Given the description of an element on the screen output the (x, y) to click on. 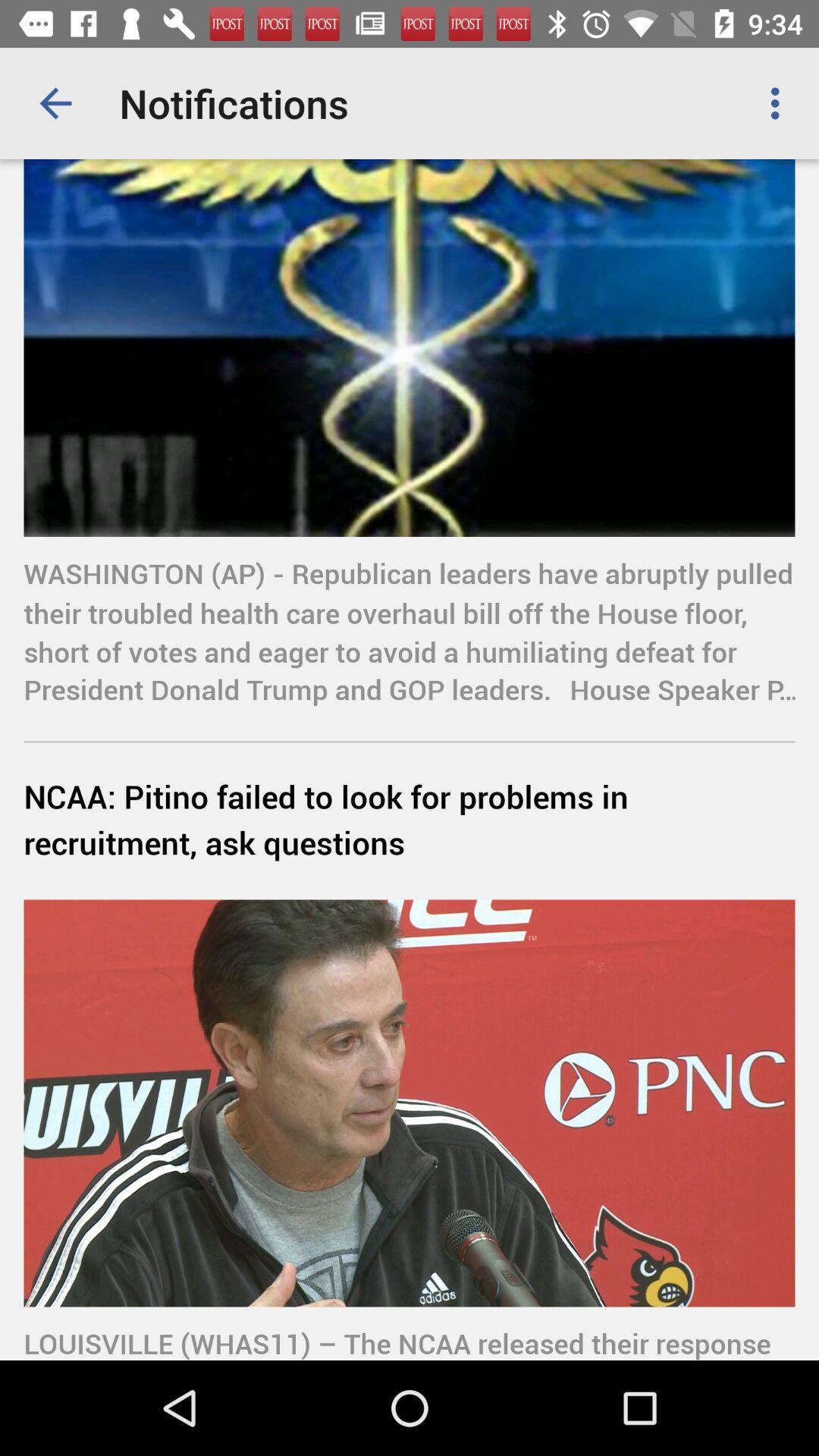
launch icon next to notifications item (55, 103)
